Given the description of an element on the screen output the (x, y) to click on. 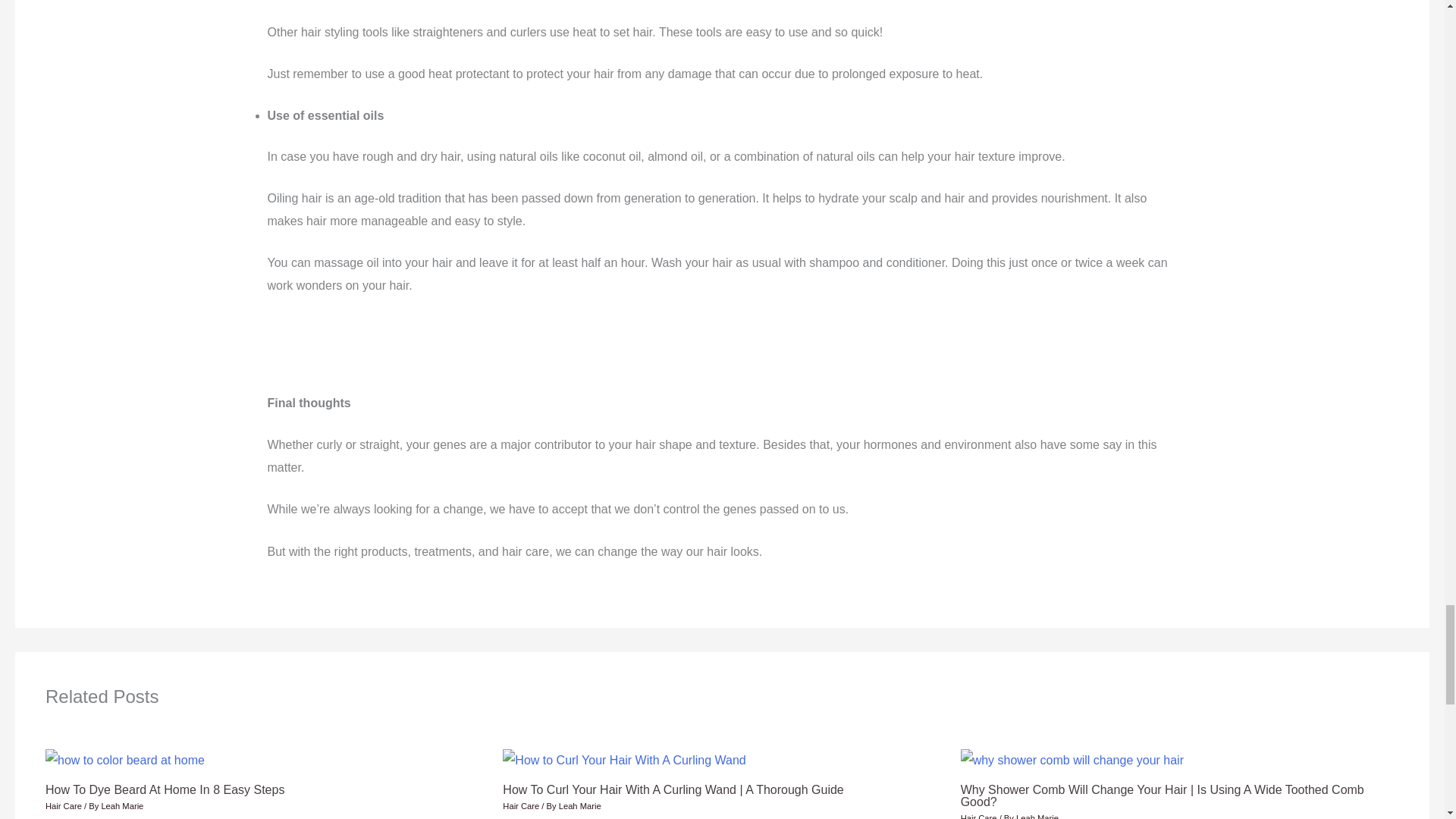
Leah Marie (580, 805)
View all posts by Leah Marie (580, 805)
Leah Marie (121, 805)
Hair Care (520, 805)
Hair Care (978, 816)
View all posts by Leah Marie (121, 805)
Leah Marie (1037, 816)
How To Dye Beard At Home In 8 Easy Steps (164, 789)
Hair Care (63, 805)
View all posts by Leah Marie (1037, 816)
